Given the description of an element on the screen output the (x, y) to click on. 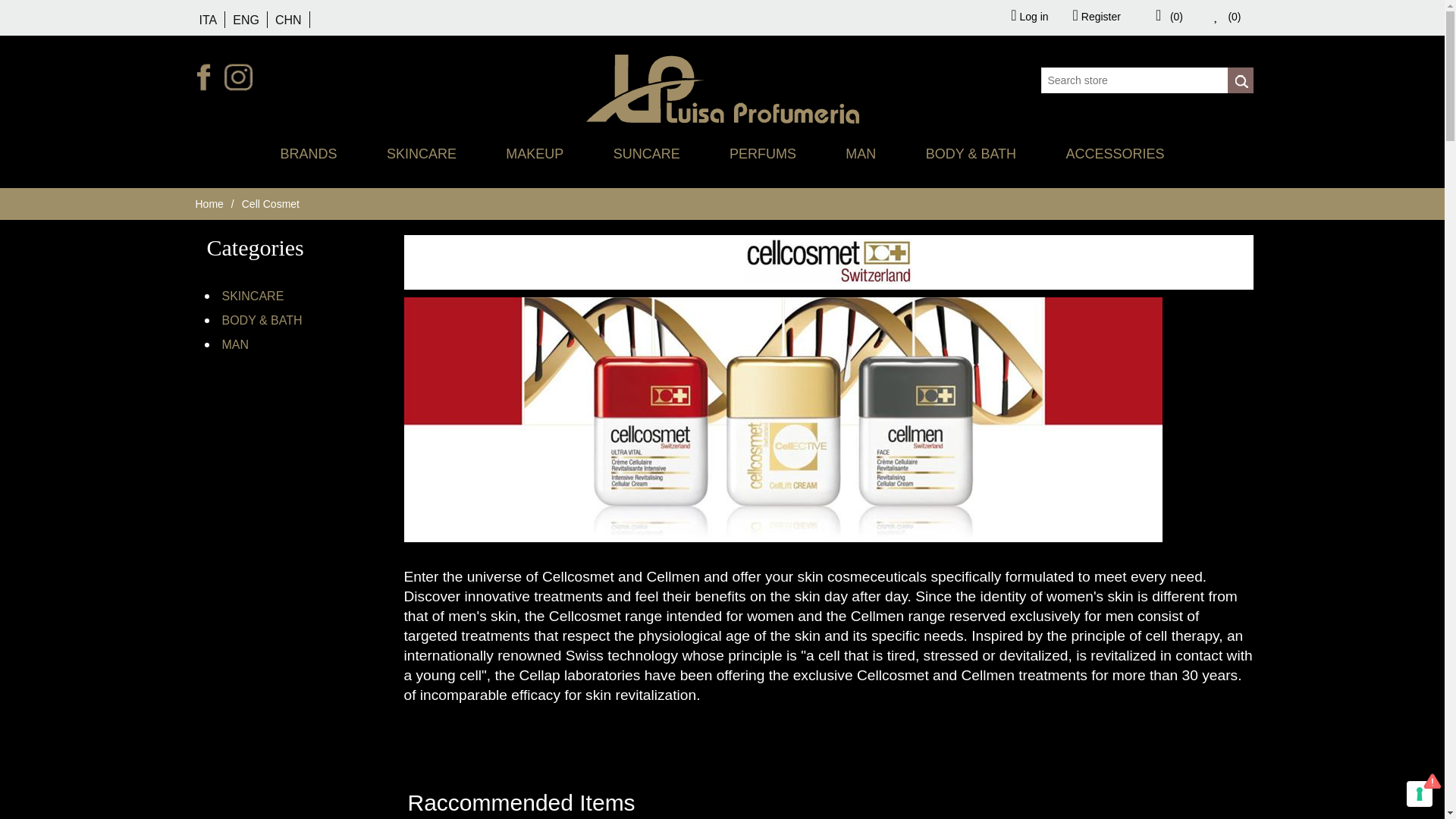
ENG (245, 19)
SKINCARE (421, 153)
CHN (288, 19)
MAKEUP (533, 153)
Log in (1029, 14)
Register (1097, 14)
ITA (207, 19)
Home (209, 203)
ITA (207, 19)
BRANDS (309, 153)
PERFUMS (762, 153)
CHN (288, 19)
